Given the description of an element on the screen output the (x, y) to click on. 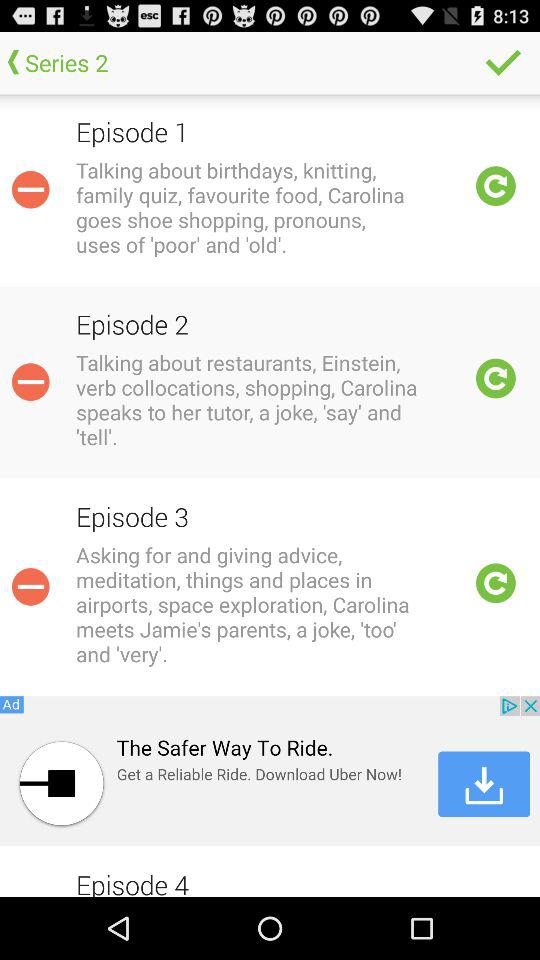
replay (496, 583)
